Given the description of an element on the screen output the (x, y) to click on. 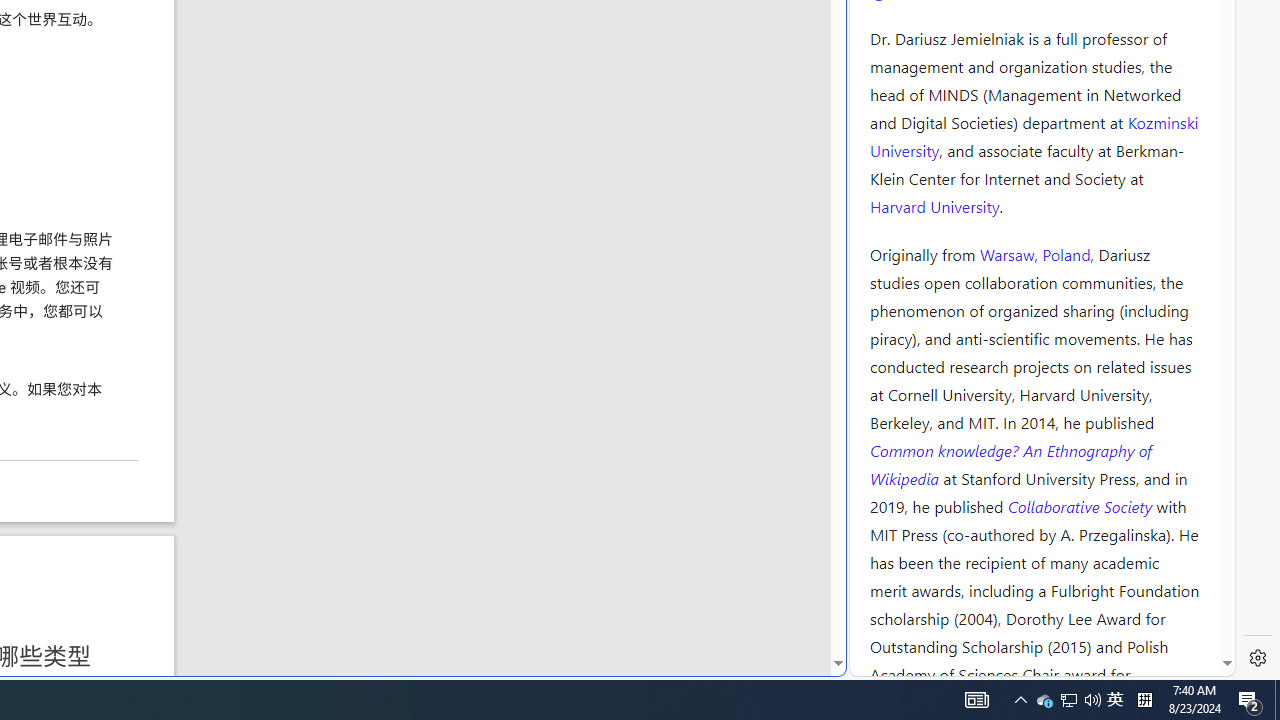
Poland (1065, 253)
google_privacy_policy_zh-CN.pdf (687, 482)
Actions for this site (1129, 306)
